Given the description of an element on the screen output the (x, y) to click on. 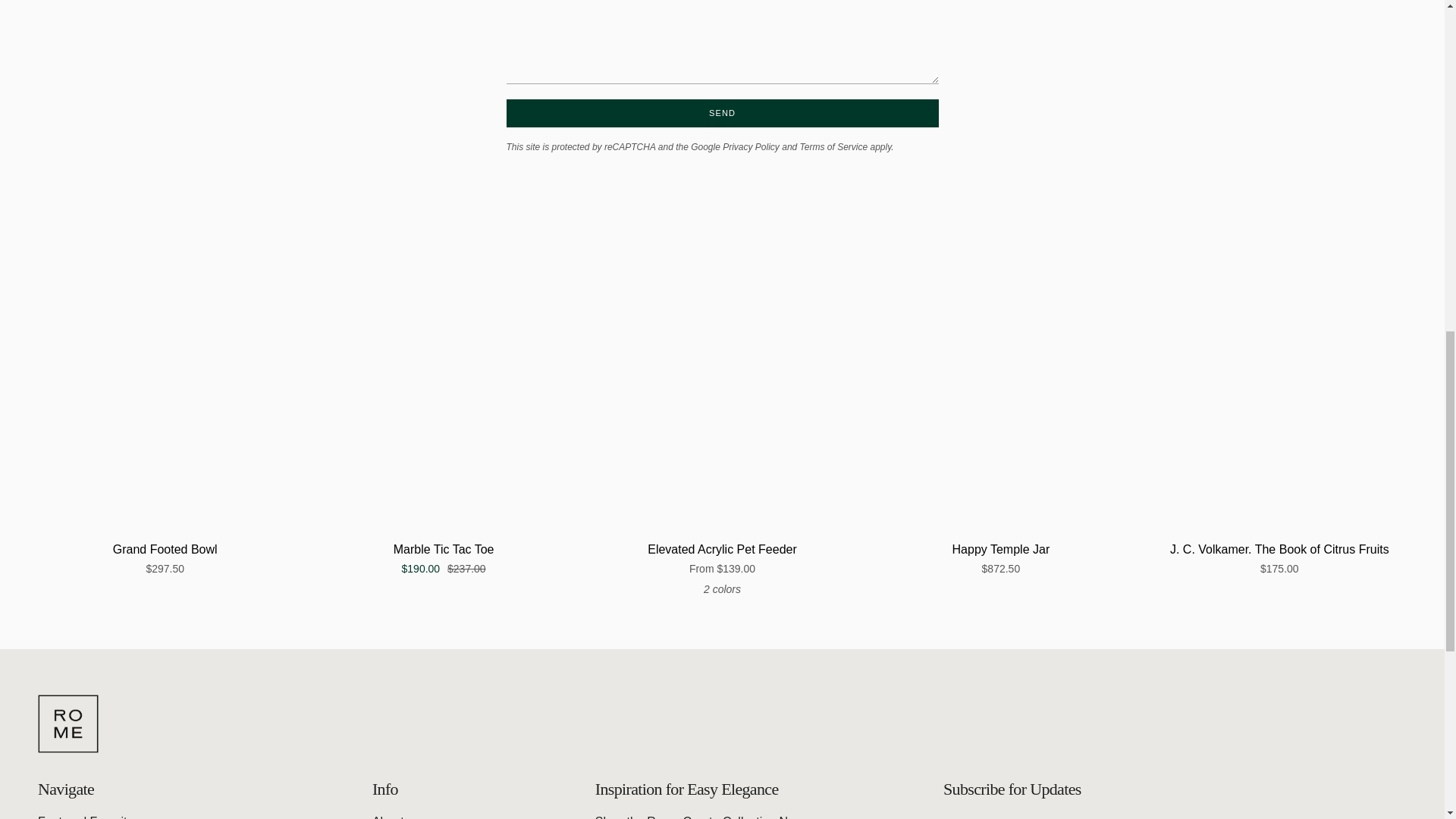
Rome Curate Collection (699, 816)
